Given the description of an element on the screen output the (x, y) to click on. 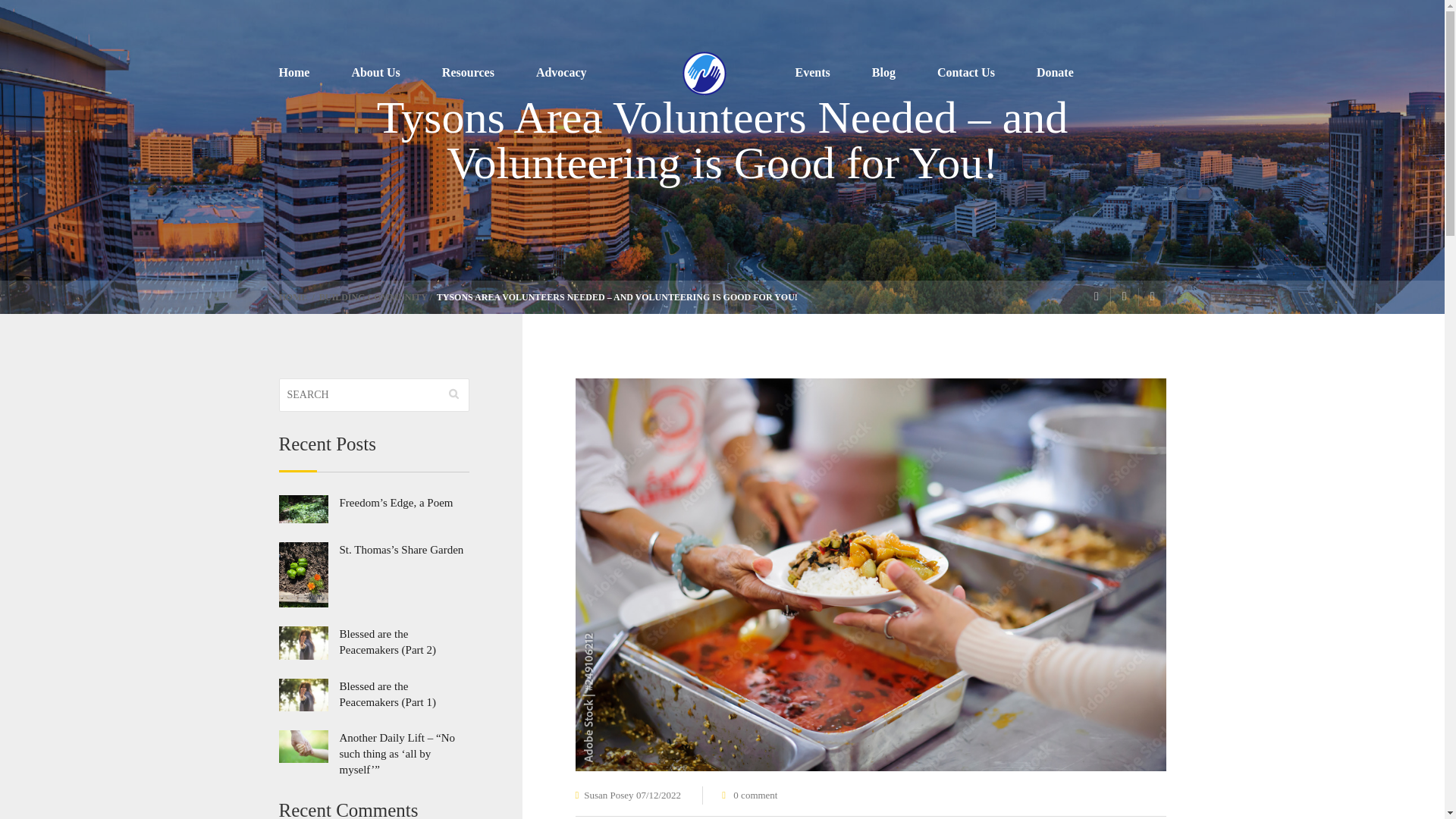
Home (315, 74)
About Us (395, 74)
BUILDING COMMUNITY (373, 296)
Tysons Interfaith (703, 74)
Share on Facebook (1096, 297)
Susan Posey (608, 794)
Share on Twitter (1124, 297)
Contact Us (986, 74)
Posts by Susan Posey (608, 794)
Donate (1055, 74)
Advocacy (581, 74)
HOME (294, 296)
0 comment (755, 794)
Share on Linkedin (1152, 297)
Resources (488, 74)
